Given the description of an element on the screen output the (x, y) to click on. 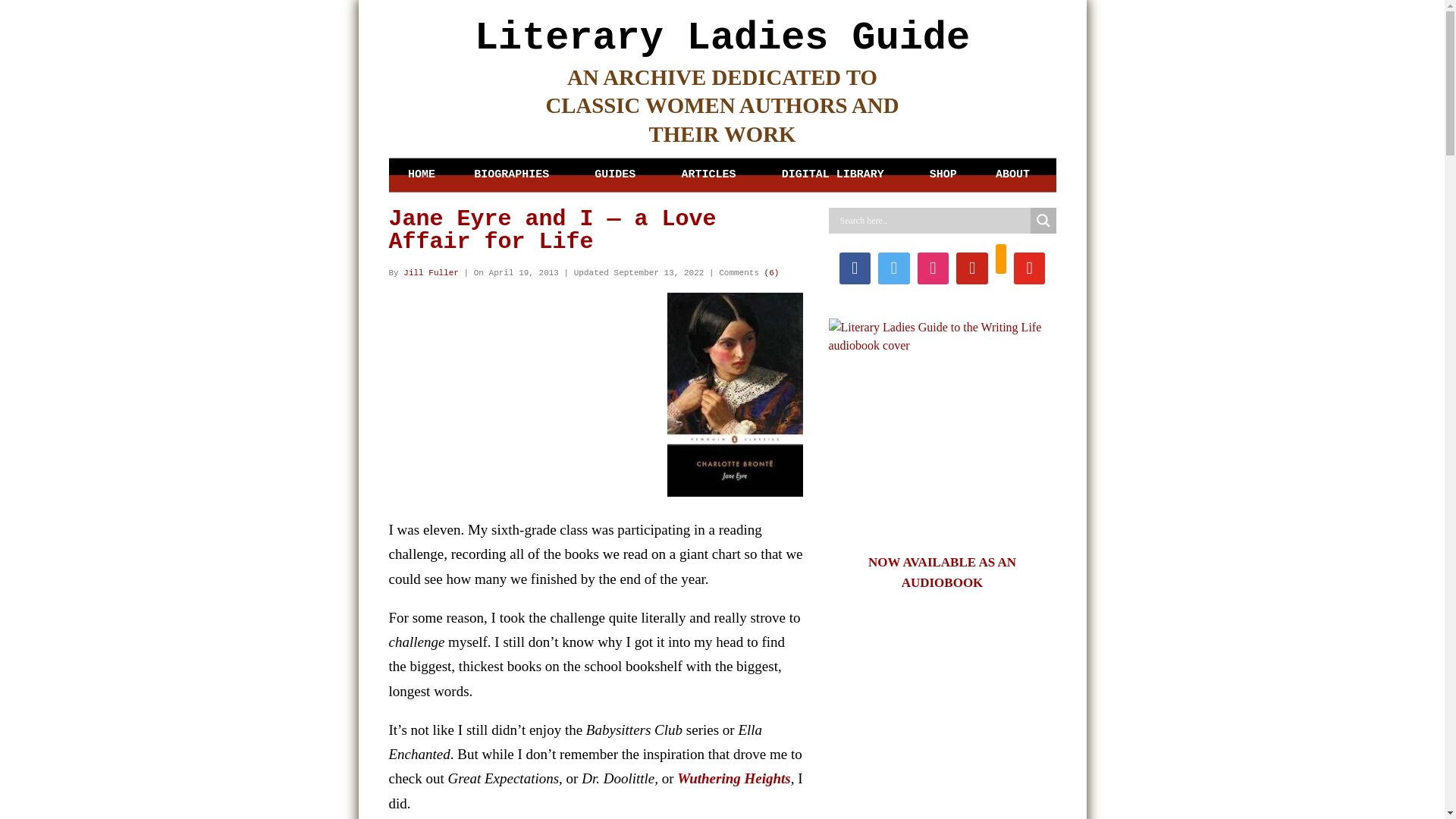
Jill Fuller (430, 272)
AUTHORS (514, 204)
DIGITAL LIBRARY (835, 174)
SHOP (942, 174)
Posts by Jill Fuller (430, 272)
BOOK DESCRIPTIONS (618, 229)
Literary Ladies Guide (721, 38)
Default Label (971, 268)
WRITING WISDOM (711, 328)
CONTACT (1015, 253)
